Given the description of an element on the screen output the (x, y) to click on. 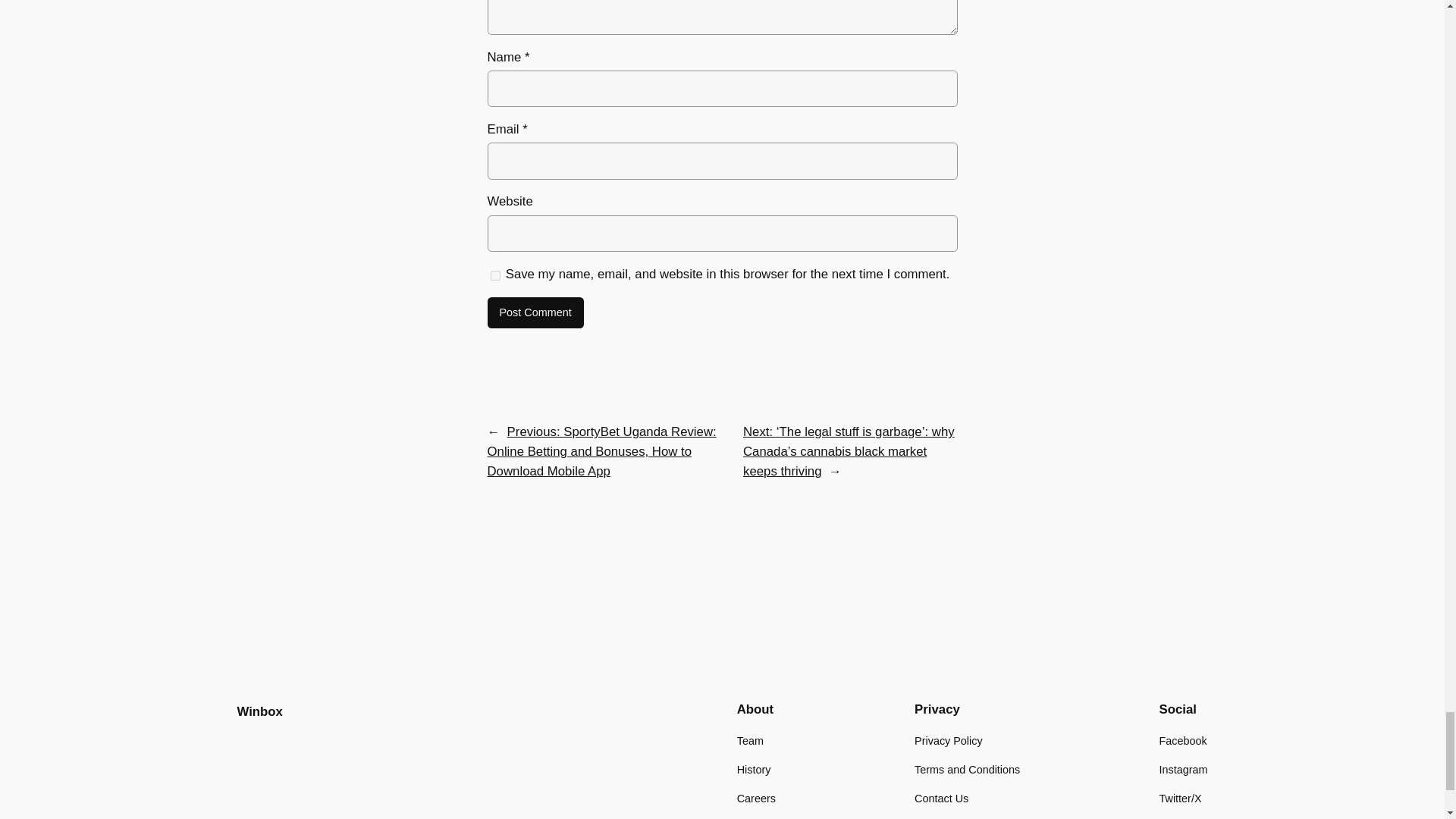
Instagram (1182, 769)
History (753, 769)
Post Comment (534, 313)
Careers (756, 798)
Winbox (258, 711)
Privacy Policy (948, 740)
Post Comment (534, 313)
Contact Us (941, 798)
Facebook (1182, 740)
